Given the description of an element on the screen output the (x, y) to click on. 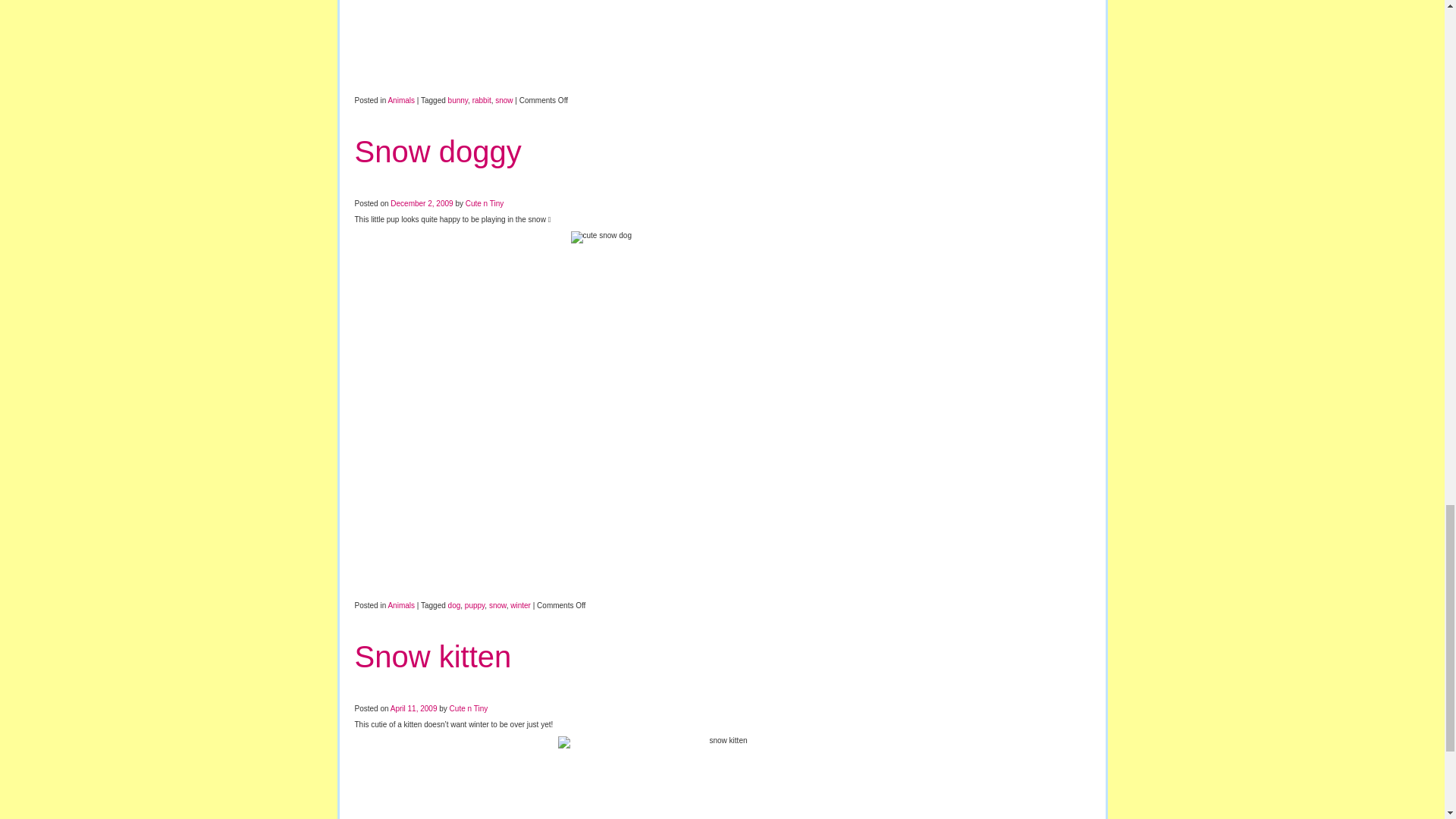
snow (497, 605)
snow kitten (721, 777)
View all posts by Cute n Tiny (468, 708)
View all posts by Cute n Tiny (484, 203)
puppy (474, 605)
bunny (458, 100)
dog (454, 605)
Permalink to Snow doggy (438, 151)
Cute n Tiny (484, 203)
Animals (400, 100)
rabbit (481, 100)
December 2, 2009 (421, 203)
Animals (400, 605)
winter (521, 605)
Permalink to Snow kitten (433, 656)
